Given the description of an element on the screen output the (x, y) to click on. 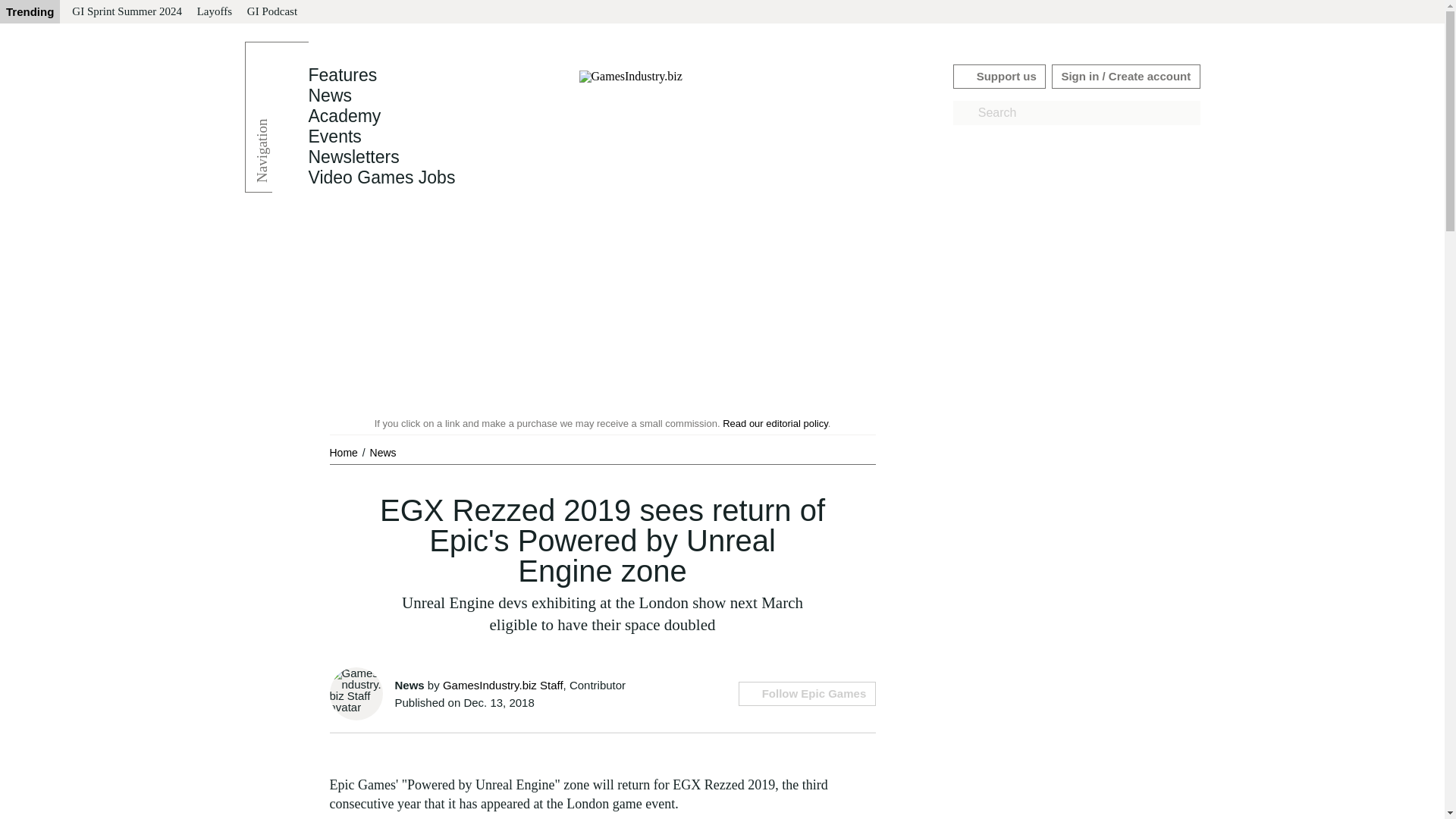
News (382, 452)
GI Podcast (271, 11)
Support us (999, 75)
Follow Epic Games (806, 693)
Home (344, 452)
Events (334, 136)
GI Sprint Summer 2024 (126, 11)
Read our editorial policy (775, 423)
GI Sprint Summer 2024 (126, 11)
Layoffs (214, 11)
Features (342, 75)
GamesIndustry.biz Staff (502, 684)
Layoffs (214, 11)
Academy (343, 116)
Video Games Jobs (380, 177)
